Given the description of an element on the screen output the (x, y) to click on. 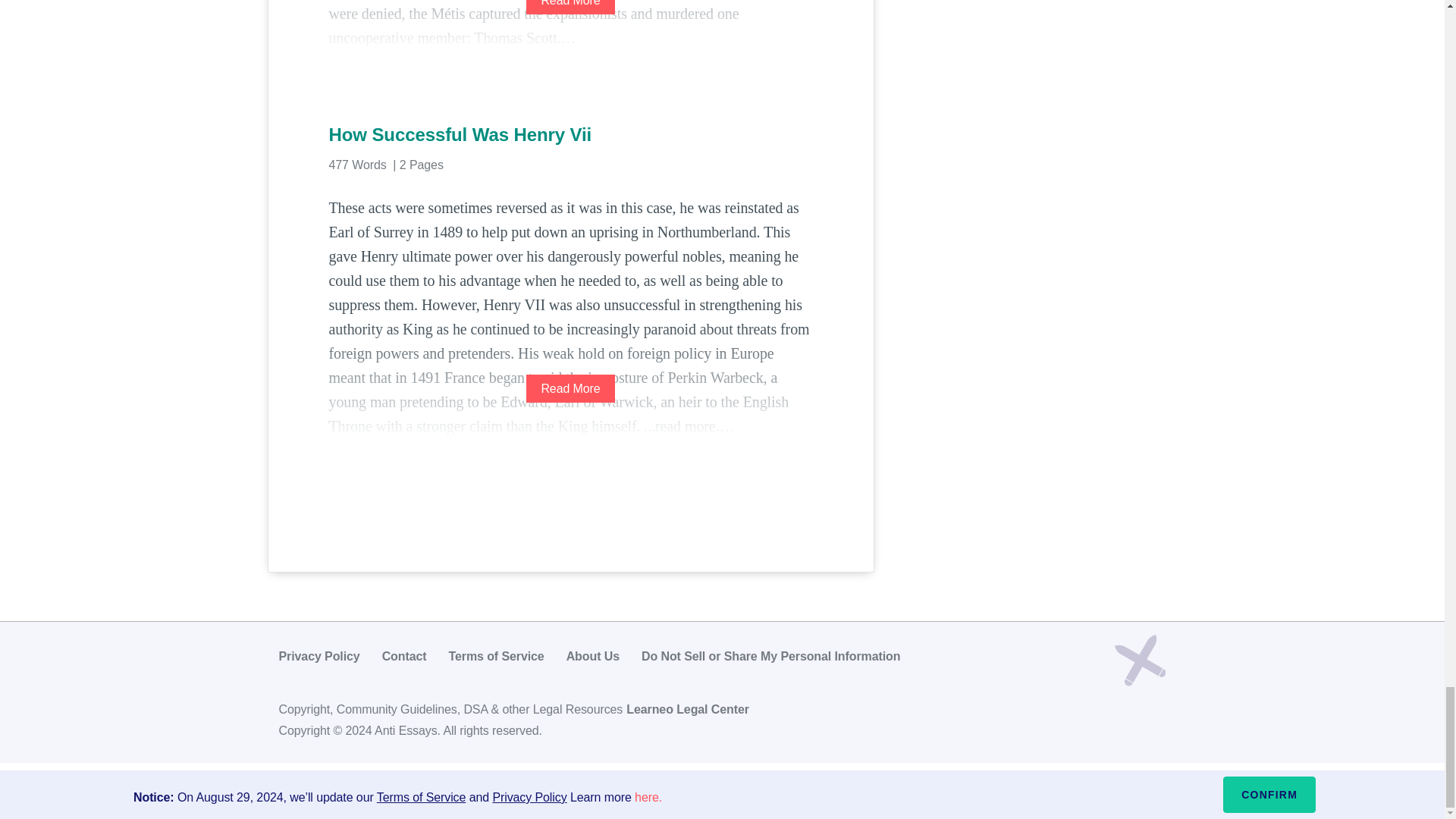
Read More (569, 388)
How Successful Was Henry Vii (570, 134)
Contact (403, 656)
Privacy Policy (319, 656)
Read More (569, 7)
